Given the description of an element on the screen output the (x, y) to click on. 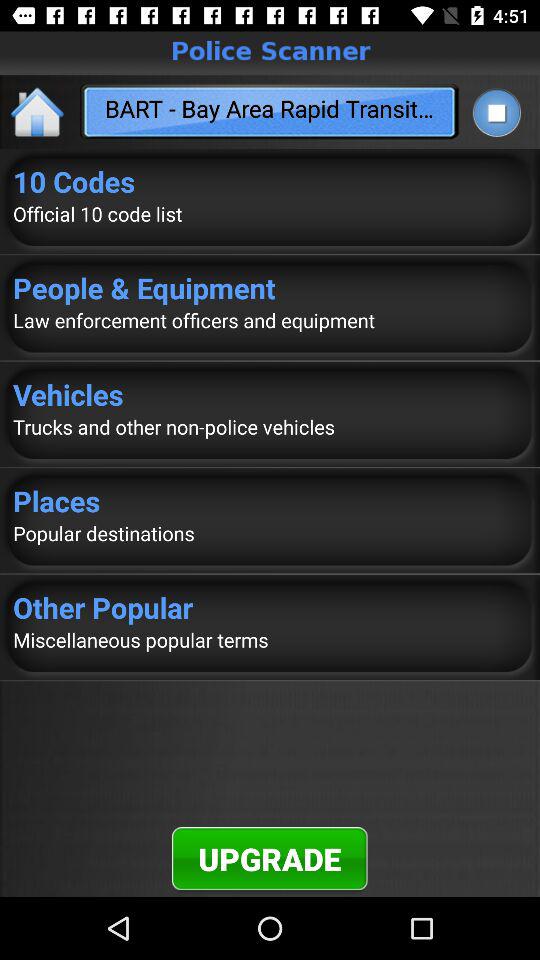
turn off the law enforcement officers (269, 320)
